Given the description of an element on the screen output the (x, y) to click on. 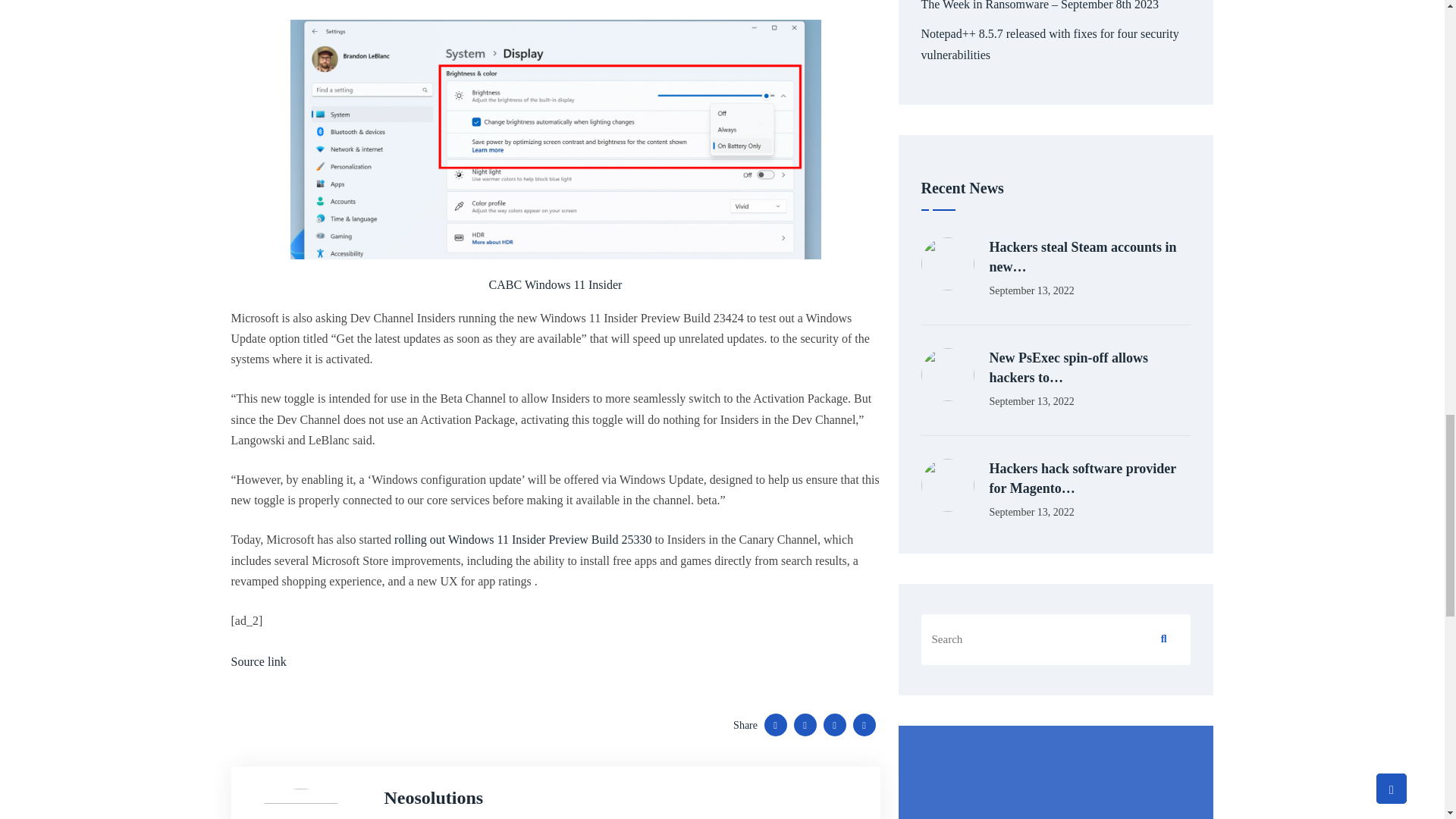
rolling out Windows 11 Insider Preview Build 25330 (522, 539)
Posts by neosolutions (433, 797)
Search for: (1055, 99)
